Given the description of an element on the screen output the (x, y) to click on. 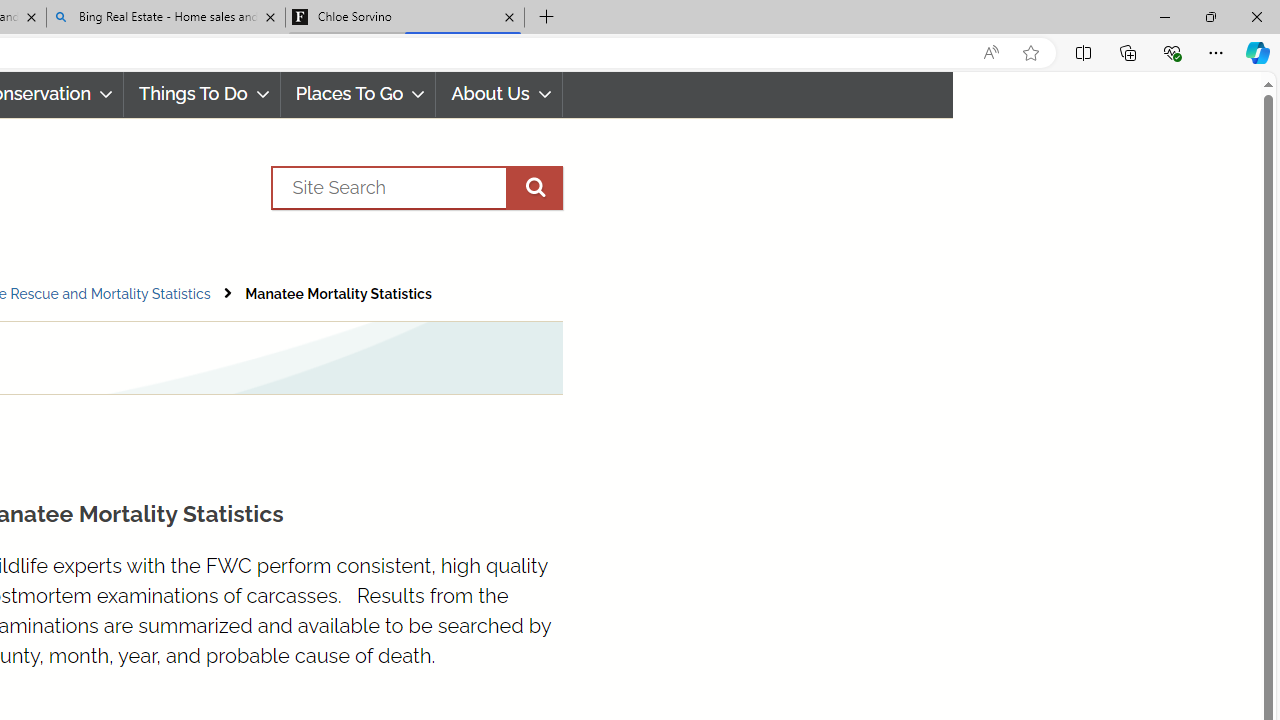
Things To Do (202, 94)
execute site search (534, 187)
Places To Go (358, 94)
Chloe Sorvino (404, 17)
About Us (498, 94)
Things To Do (202, 94)
Manatee Mortality Statistics (338, 294)
